Given the description of an element on the screen output the (x, y) to click on. 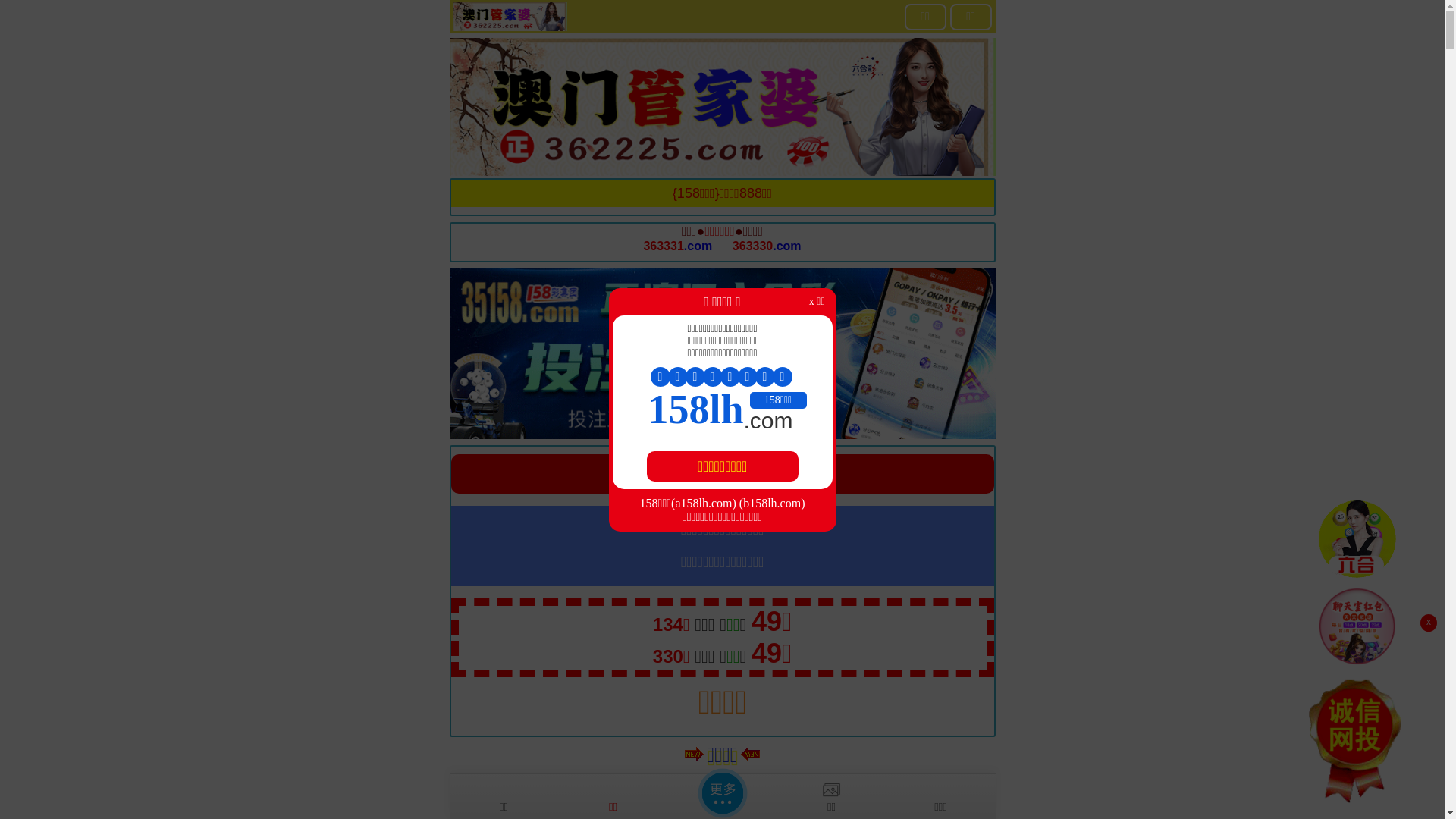
x Element type: text (1428, 622)
